Given the description of an element on the screen output the (x, y) to click on. 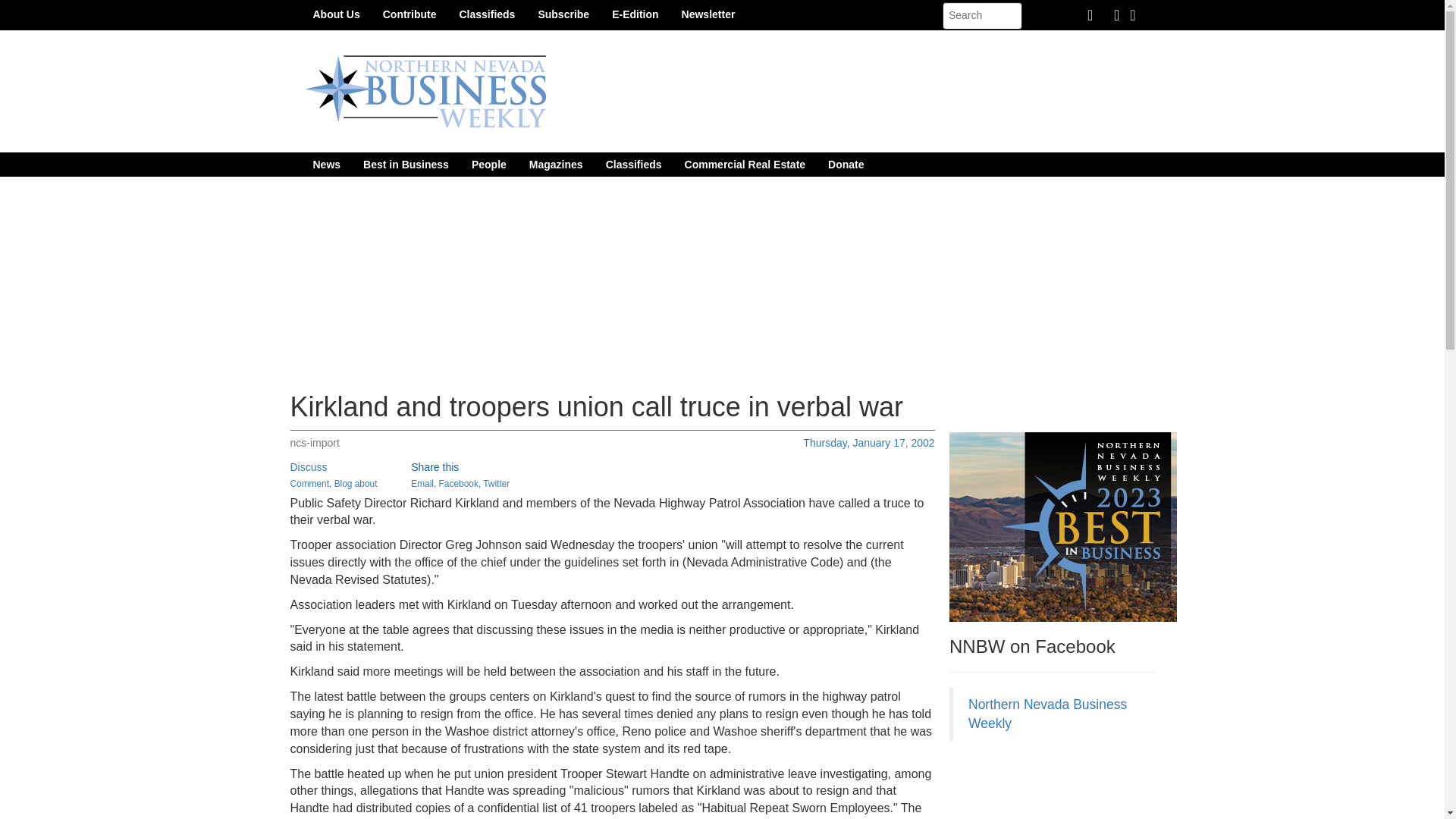
3rd party ad content (1062, 787)
Discuss (307, 467)
Subscribe (562, 14)
Best in Business (406, 164)
Contribute (409, 14)
Facebook (459, 483)
Classifieds (485, 14)
Email, (422, 483)
Comment (309, 483)
About Us (336, 14)
Magazines (556, 164)
Commercial Real Estate (744, 164)
Twitter (496, 483)
Newsletter (707, 14)
